Given the description of an element on the screen output the (x, y) to click on. 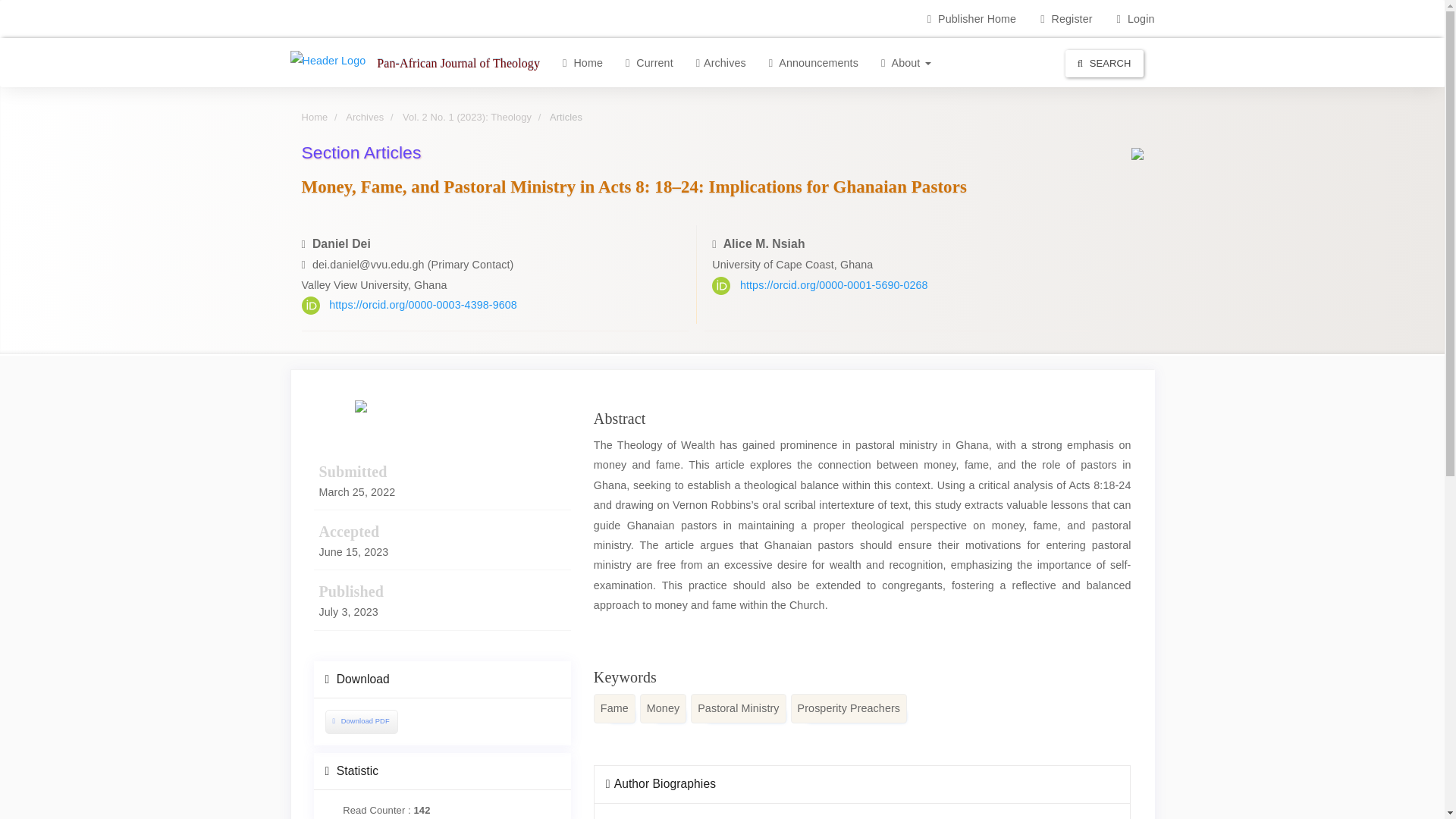
About (905, 62)
Download PDF (360, 721)
Announcements (813, 62)
Home (582, 62)
Login (1135, 18)
Current (649, 62)
Download on article page (359, 720)
Home (315, 116)
Register (1066, 18)
SEARCH (1103, 62)
Pan-African Journal of Theology (458, 62)
Archives (365, 116)
Publisher Home (971, 18)
SEARCH (1103, 62)
Archives (720, 62)
